Given the description of an element on the screen output the (x, y) to click on. 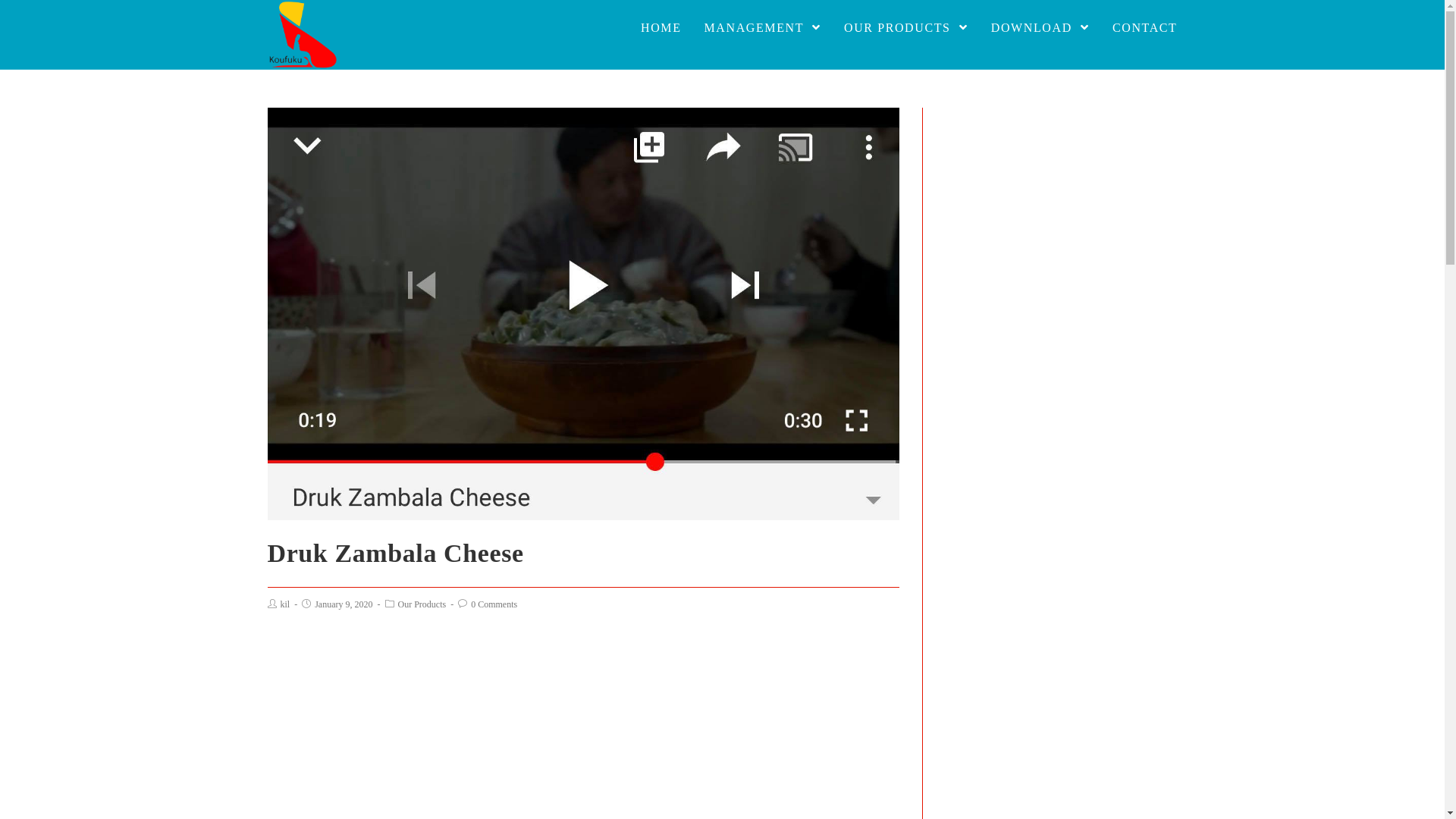
CONTACT Element type: text (1144, 28)
Our Products Element type: text (421, 604)
HOME Element type: text (661, 28)
DOWNLOAD Element type: text (1040, 28)
MANAGEMENT Element type: text (762, 28)
OUR PRODUCTS Element type: text (905, 28)
0 Comments Element type: text (493, 604)
kil Element type: text (285, 604)
